Given the description of an element on the screen output the (x, y) to click on. 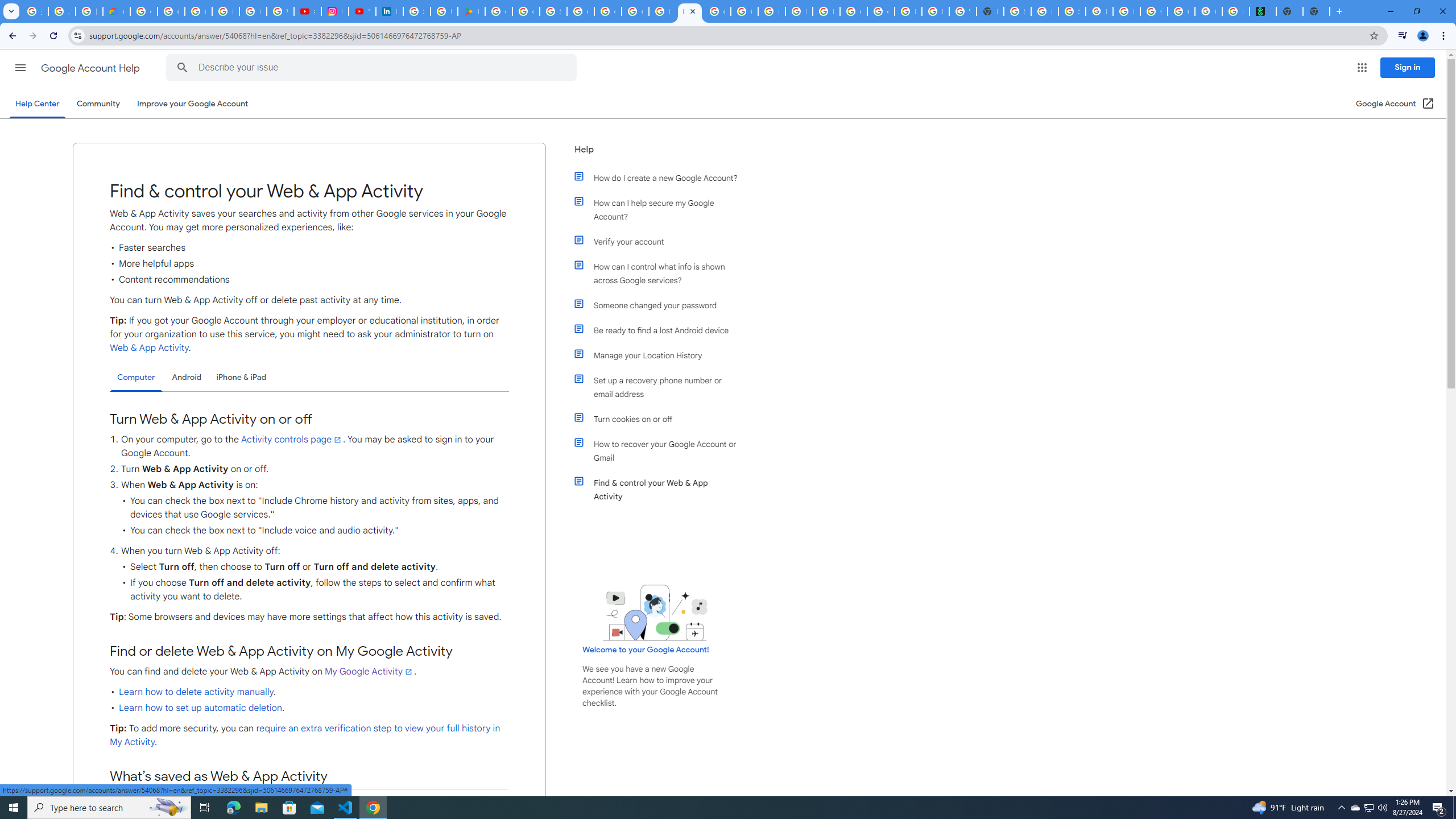
Describe your issue (373, 67)
Google Cloud Platform (580, 11)
How to recover your Google Account or Gmail (661, 450)
Community (97, 103)
Web & App Activity (149, 347)
Google Cloud Platform (853, 11)
My Google Activity (368, 671)
Google Workspace - Specific Terms (525, 11)
YouTube Culture & Trends - On The Rise: Handcam Videos (362, 11)
